Given the description of an element on the screen output the (x, y) to click on. 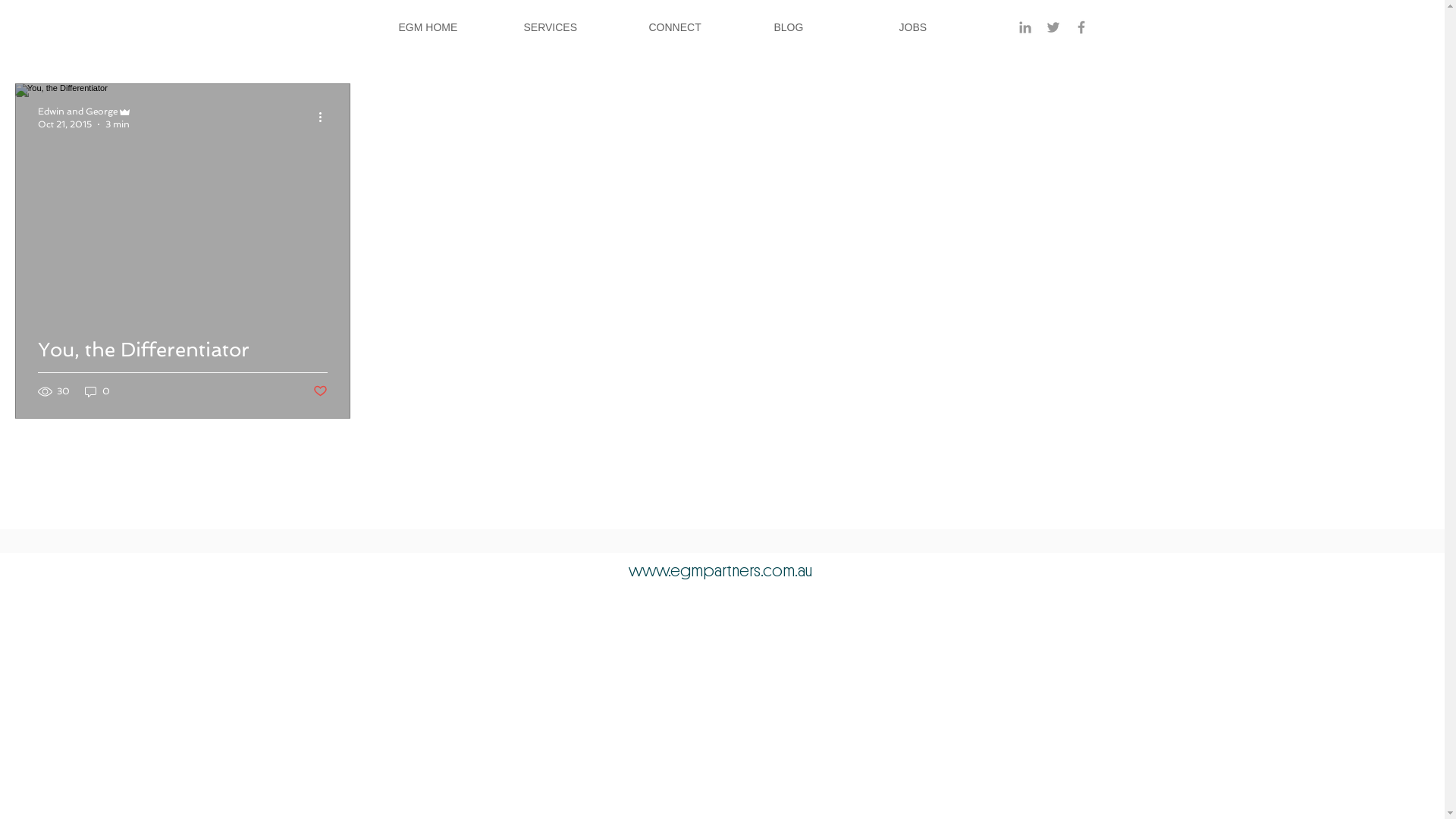
EGM HOME Element type: text (448, 26)
CONNECT Element type: text (699, 26)
Log in / Sign up Element type: text (1368, 37)
JOBS Element type: text (949, 26)
0 Element type: text (97, 390)
www.egmpartners.com.au Element type: text (719, 570)
SERVICES Element type: text (574, 26)
You, the Differentiator Element type: text (182, 367)
BLOG Element type: text (825, 26)
Post not marked as liked Element type: text (320, 391)
